Given the description of an element on the screen output the (x, y) to click on. 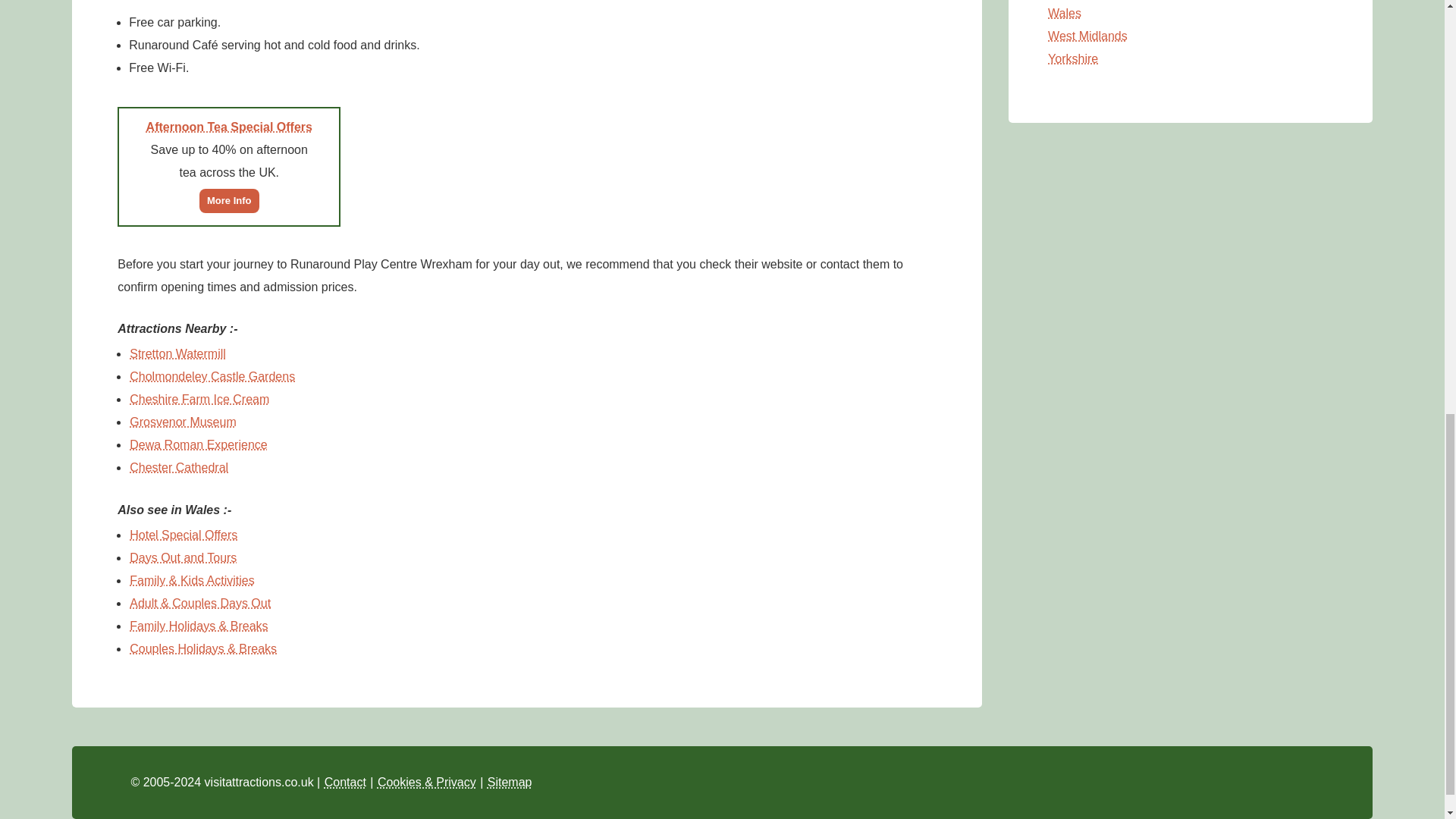
Days Out and Tours (183, 556)
Yorkshire (1072, 58)
West Midlands (1087, 35)
Hotel Special Offers (183, 533)
Grosvenor Museum (183, 421)
Chester Cathedral (178, 467)
Afternoon Tea Special Offers (229, 125)
Dewa Roman Experience (198, 444)
Cheshire Farm Ice Cream (199, 399)
Wales (1063, 12)
Cholmondeley Castle Gardens (212, 376)
Stretton Watermill (178, 353)
More Info (229, 198)
